Given the description of an element on the screen output the (x, y) to click on. 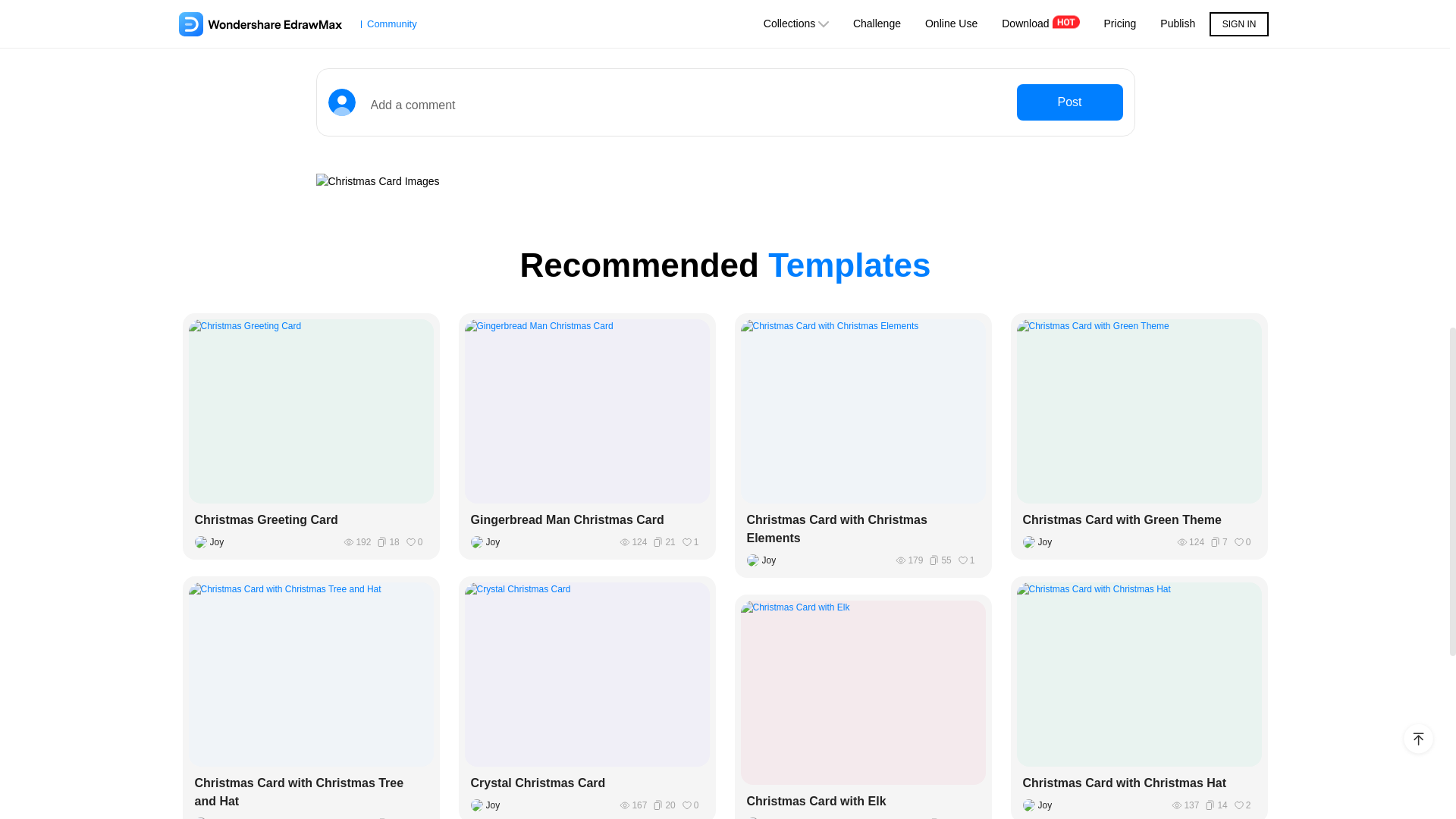
Joy (764, 817)
Christmas Card with Christmas Elements (862, 529)
Crystal Christmas Card (587, 782)
Crystal Christmas Card (587, 782)
Joy (1040, 805)
Joy (212, 541)
Christmas Greeting Card (310, 520)
Christmas Greeting Card (310, 520)
Joy (488, 541)
Christmas Card with Elk (862, 801)
Gingerbread Man Christmas Card (587, 520)
Joy (212, 817)
Joy (764, 560)
Gingerbread Man Christmas Card (587, 520)
Christmas Card with Christmas Tree and Hat (310, 791)
